Given the description of an element on the screen output the (x, y) to click on. 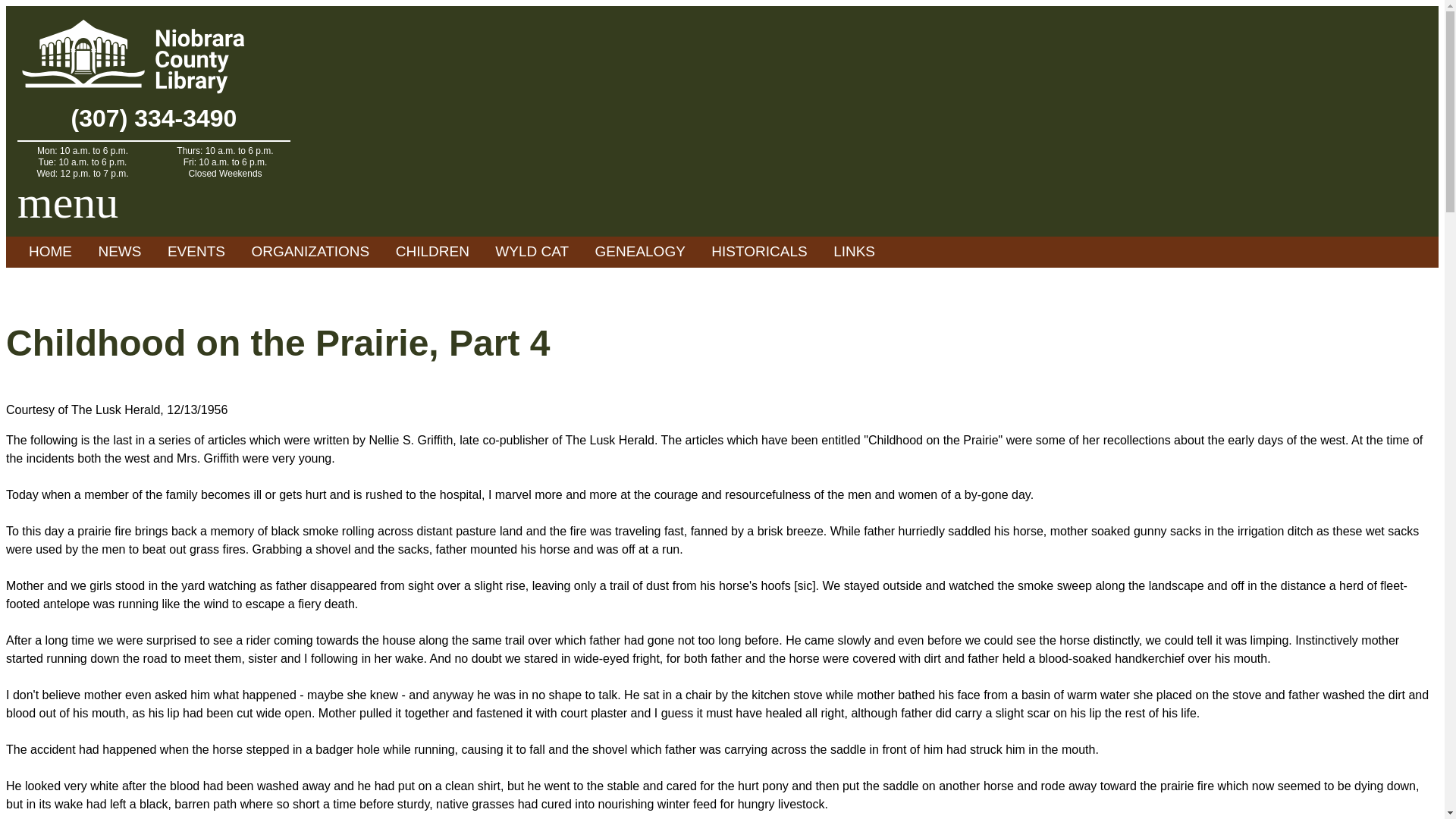
HOME (49, 251)
HISTORICALS (759, 251)
WYLD CAT (531, 251)
GENEALOGY (640, 251)
ORGANIZATIONS (310, 251)
EVENTS (195, 251)
CHILDREN (432, 251)
NEWS (118, 251)
LINKS (854, 251)
